Given the description of an element on the screen output the (x, y) to click on. 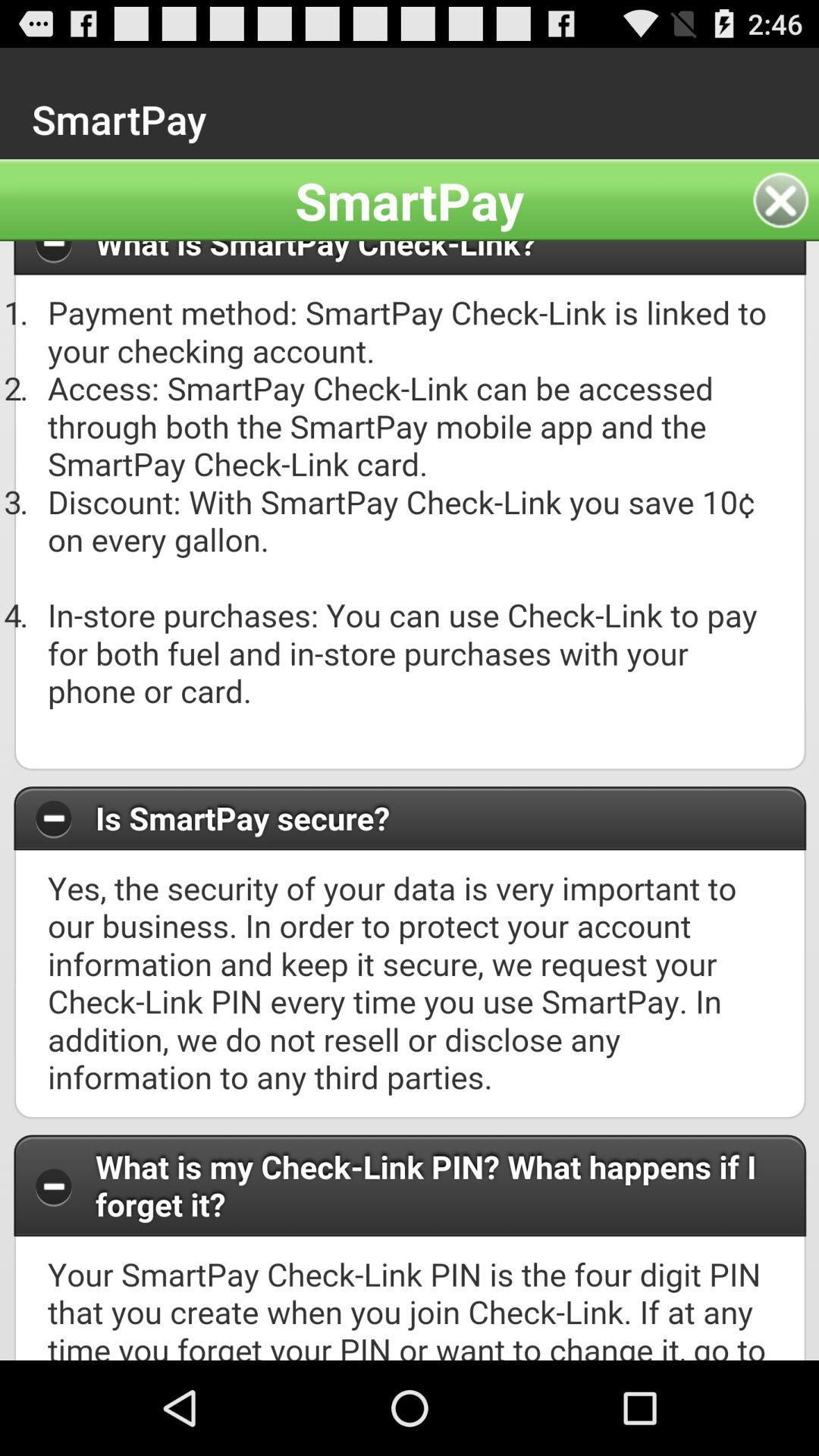
x (786, 200)
